Given the description of an element on the screen output the (x, y) to click on. 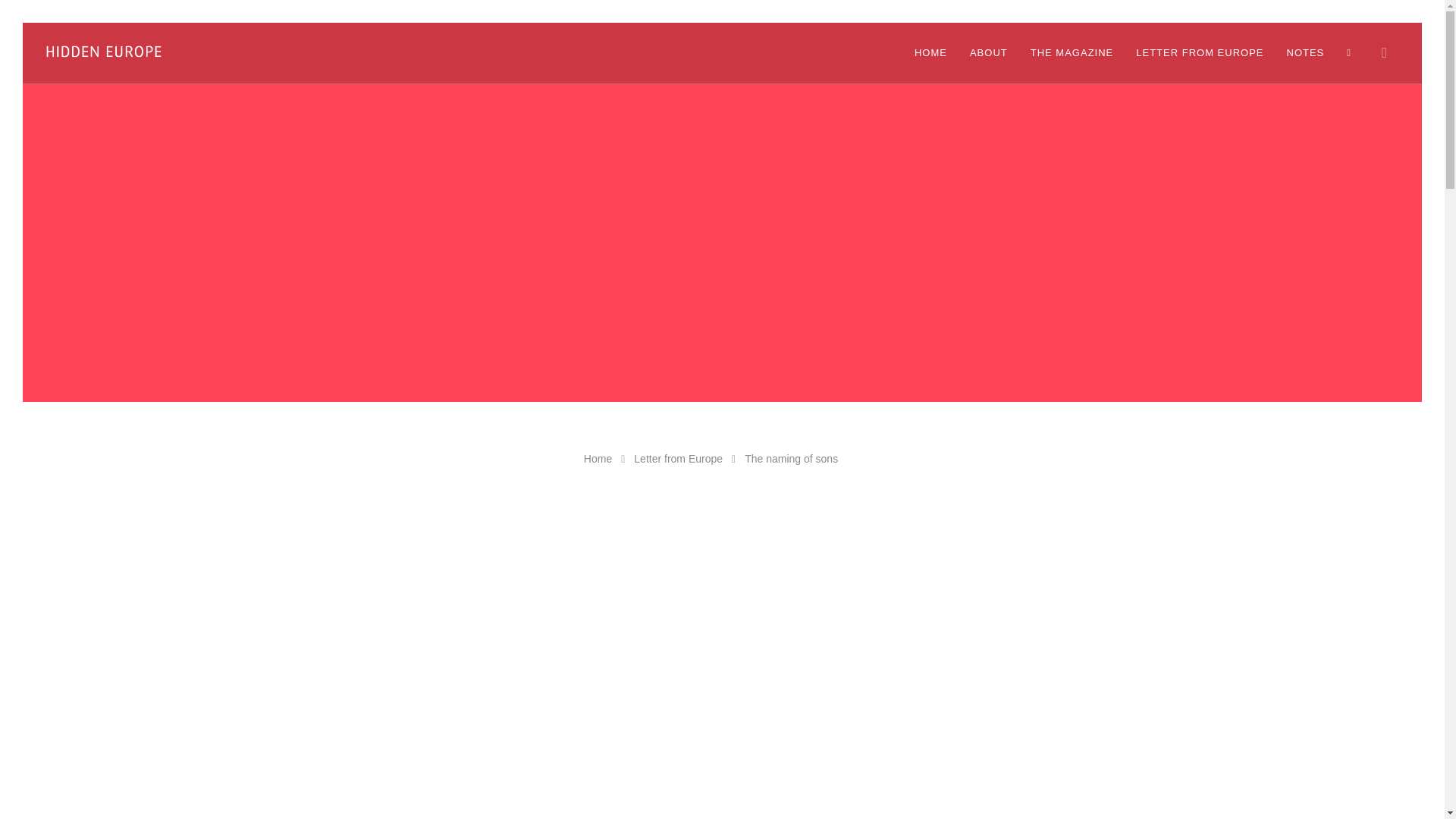
Letter from Europe (677, 458)
THE MAGAZINE (1071, 52)
Home (597, 458)
LETTER FROM EUROPE (1199, 52)
